Given the description of an element on the screen output the (x, y) to click on. 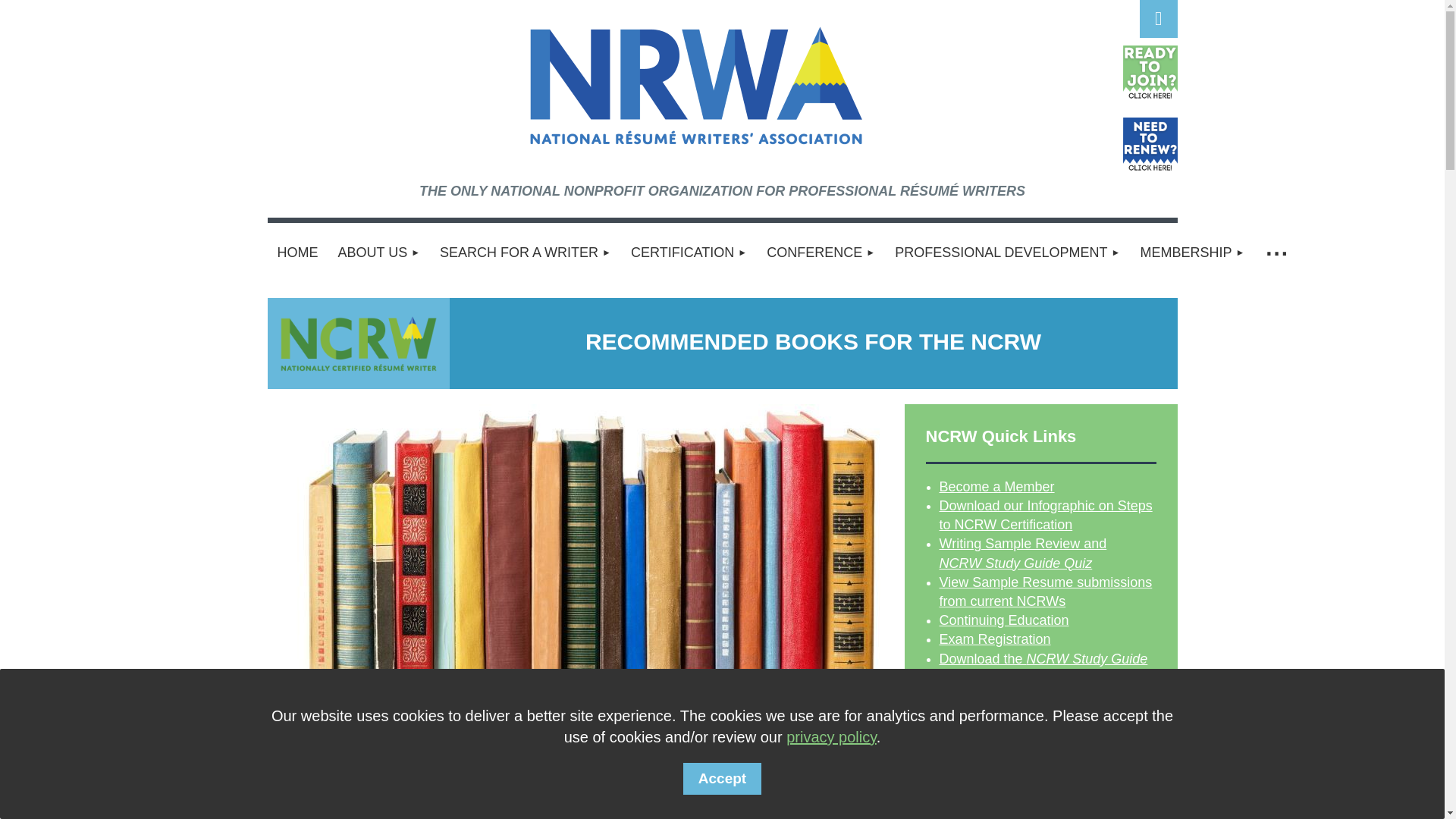
Accept (721, 778)
privacy policy (831, 736)
